Given the description of an element on the screen output the (x, y) to click on. 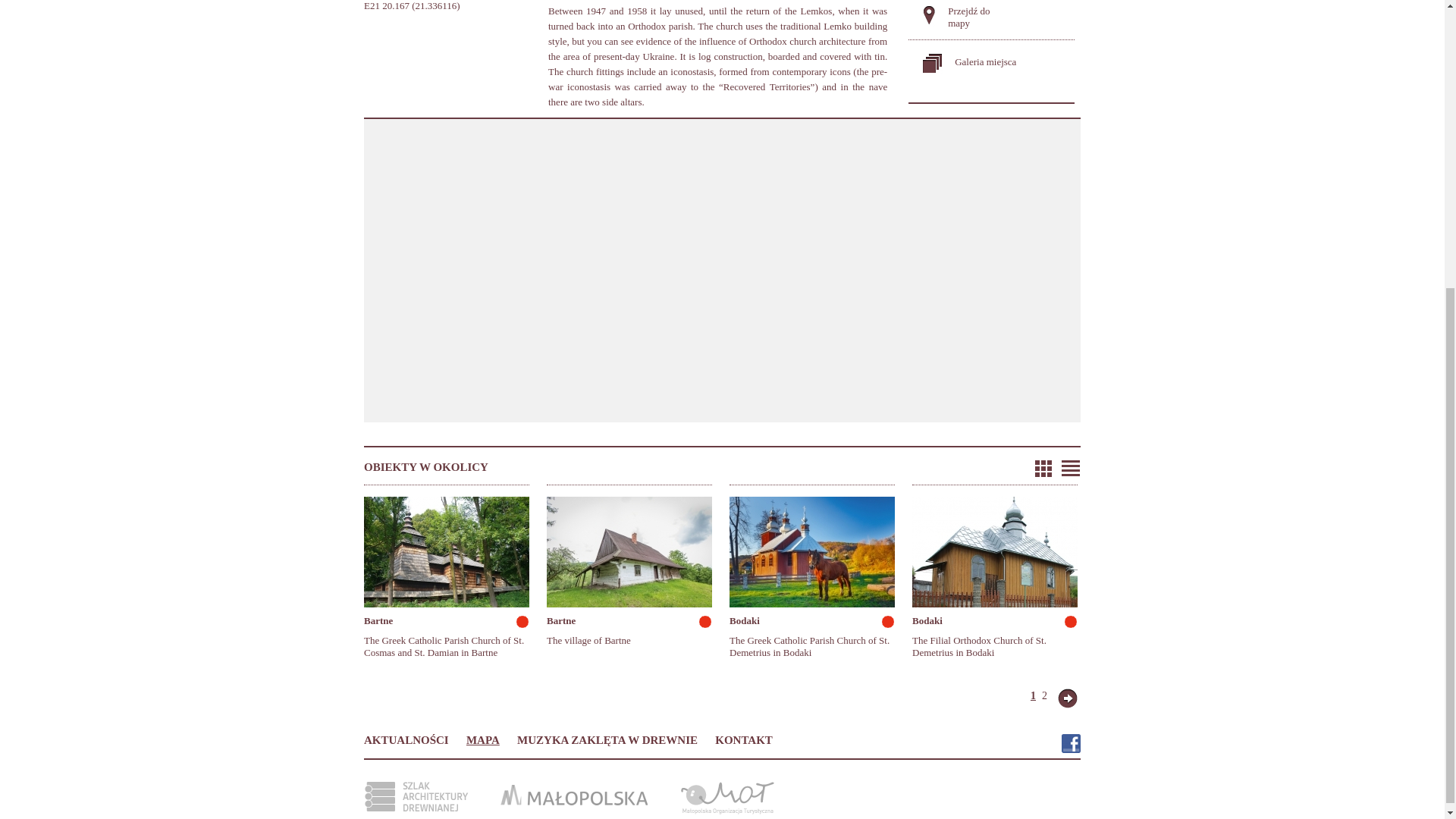
Bodaki (927, 620)
KONTAKT (743, 739)
Galeria miejsca (985, 61)
Bodaki (744, 620)
MAPA (482, 739)
Bartne (561, 620)
Bartne (378, 620)
